Given the description of an element on the screen output the (x, y) to click on. 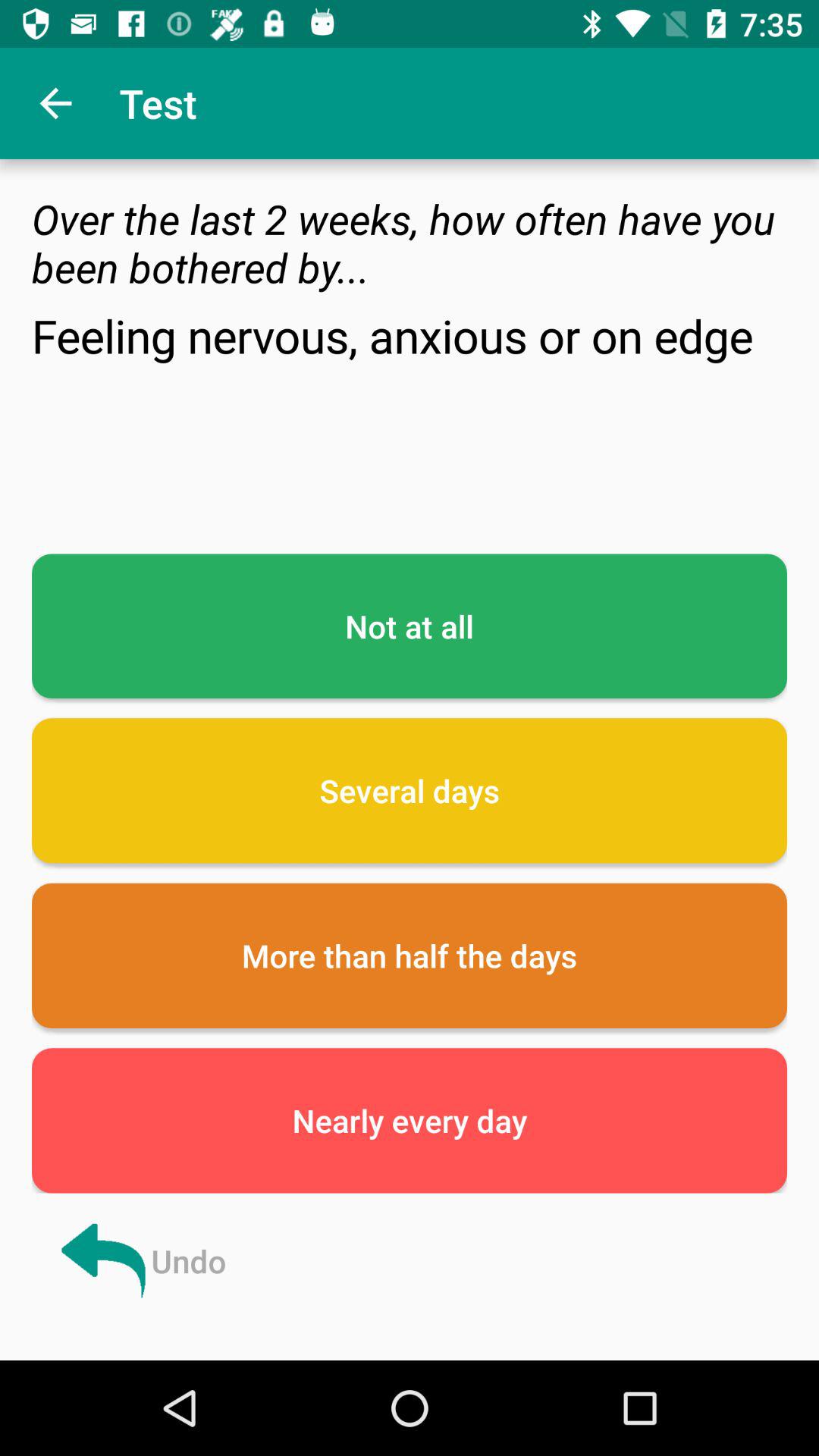
launch more than half icon (409, 955)
